Given the description of an element on the screen output the (x, y) to click on. 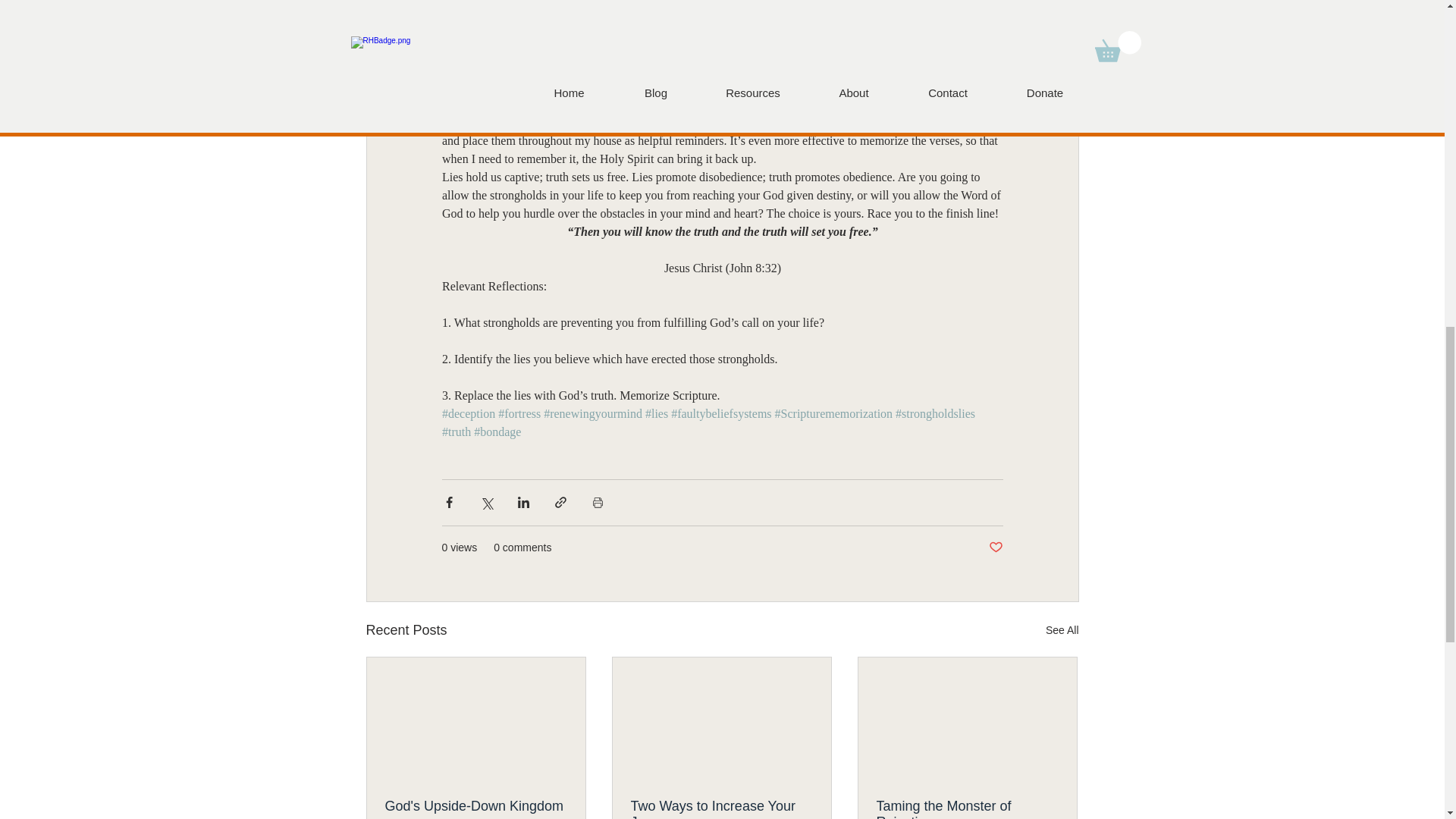
God's Upside-Down Kingdom (476, 806)
See All (1061, 630)
Post not marked as liked (995, 547)
Two Ways to Increase Your Joy (721, 808)
Taming the Monster of Rejection (967, 808)
